Given the description of an element on the screen output the (x, y) to click on. 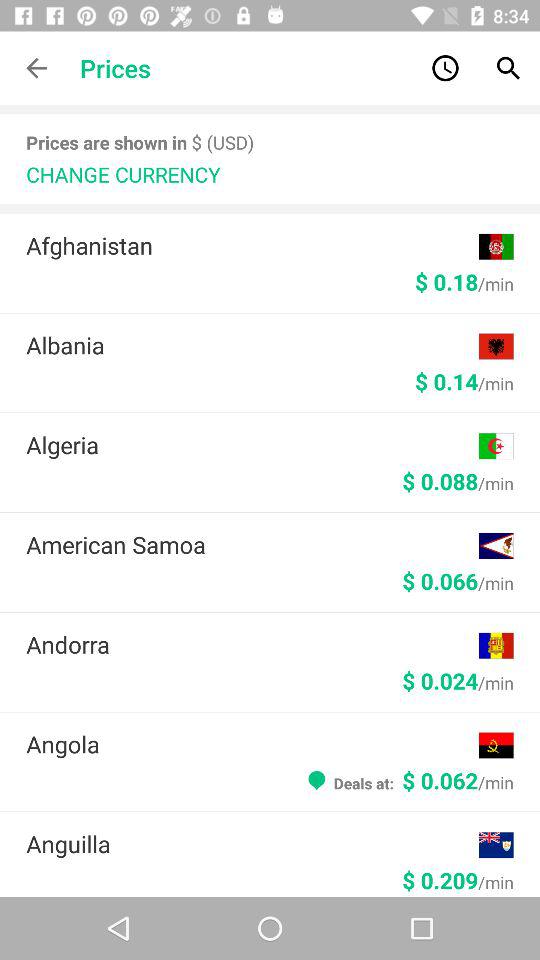
turn off the algeria item (252, 444)
